Given the description of an element on the screen output the (x, y) to click on. 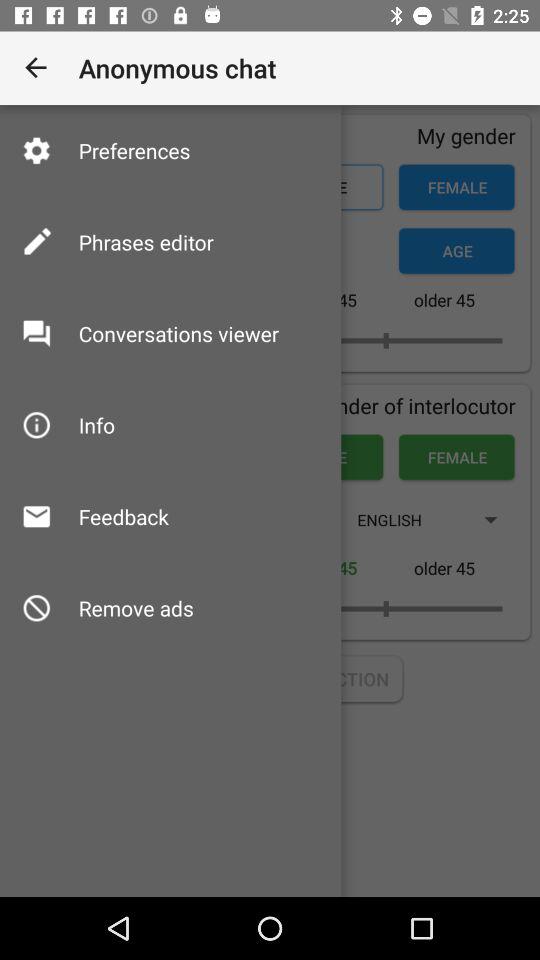
turn off icon next to the male item (134, 150)
